Given the description of an element on the screen output the (x, y) to click on. 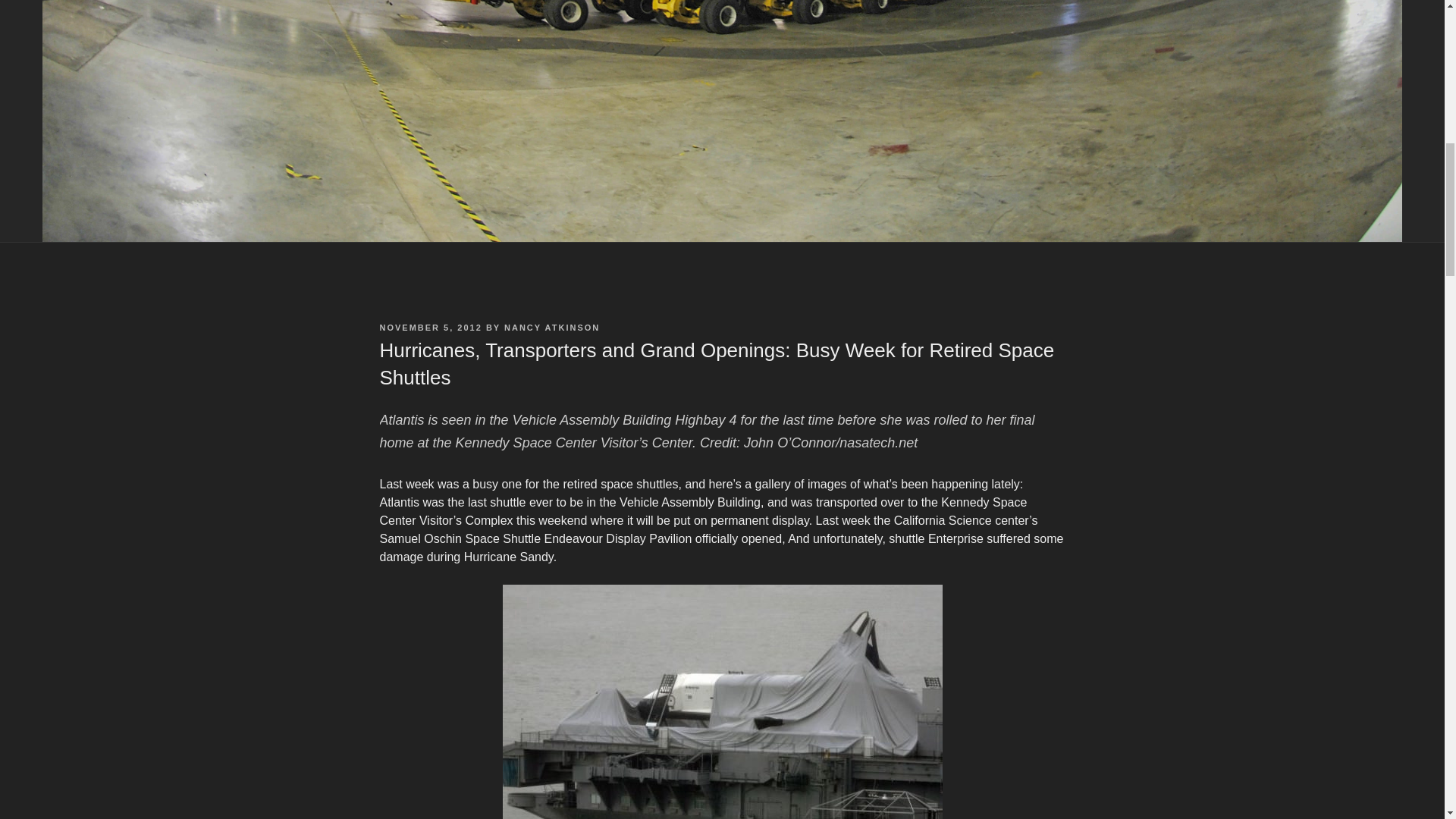
NOVEMBER 5, 2012 (429, 327)
alg-shuttle (722, 701)
NANCY ATKINSON (551, 327)
